Given the description of an element on the screen output the (x, y) to click on. 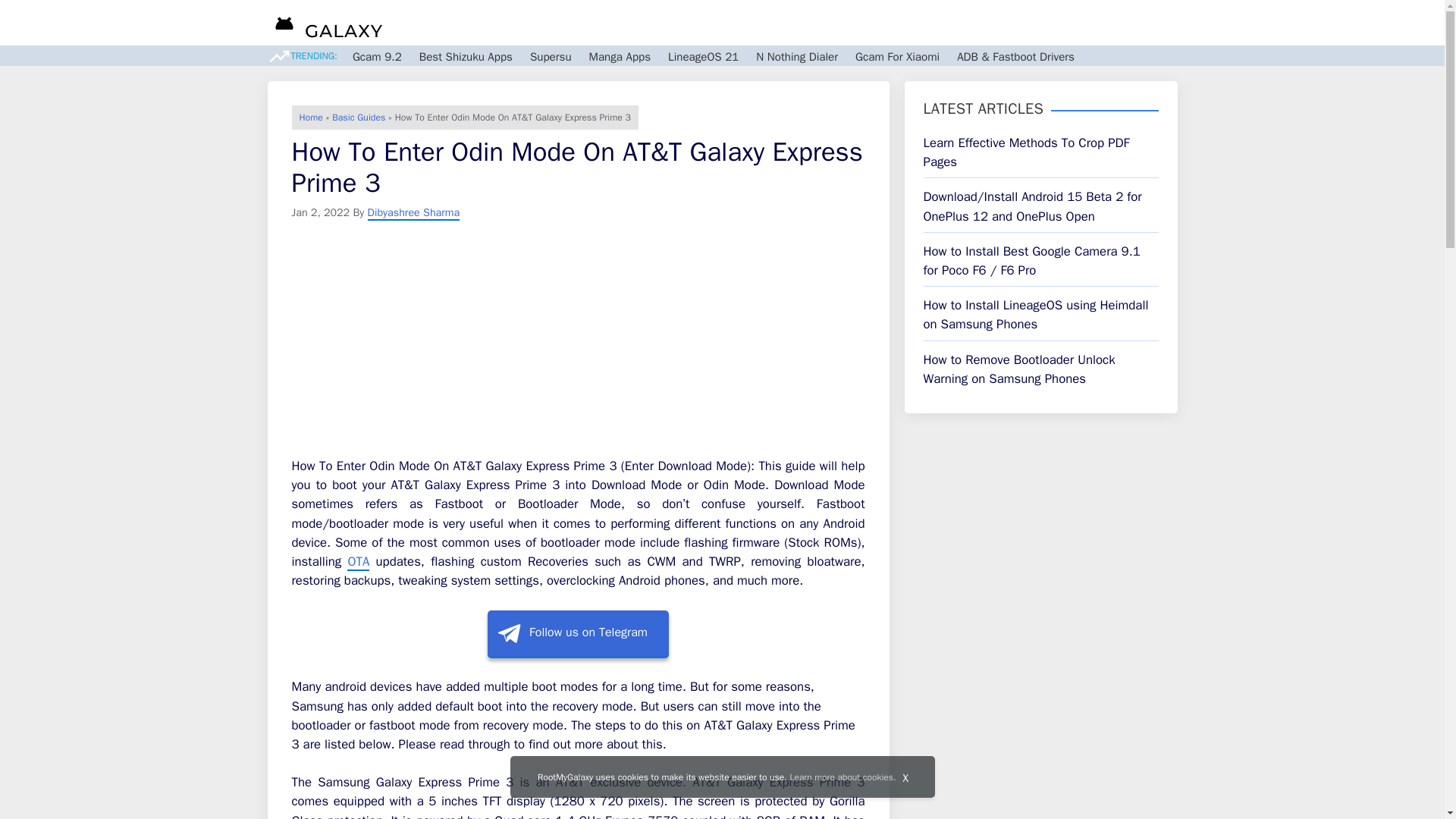
Supersu (550, 56)
Basic Guides (358, 117)
N Nothing Dialer (796, 56)
Tools (962, 22)
Best Shizuku Apps (465, 56)
Home (309, 117)
Manga Apps (619, 56)
Others (1021, 22)
Gcam 9.2 (376, 56)
News (734, 22)
Wallpapers (900, 22)
Dibyashree Sharma (414, 212)
OTA (358, 561)
LineageOS 21 (703, 56)
Follow us on Telegram (577, 634)
